Given the description of an element on the screen output the (x, y) to click on. 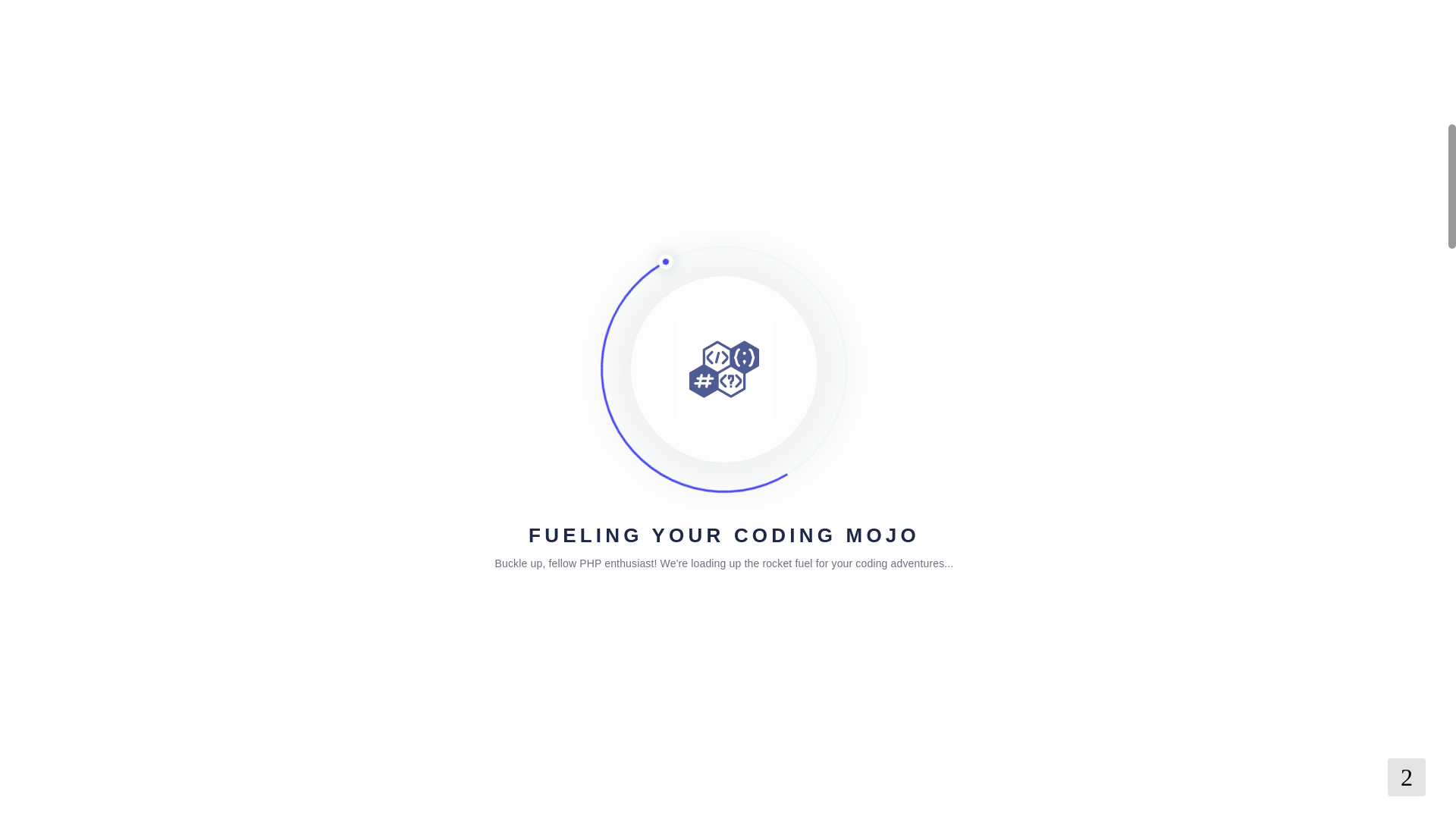
Age (704, 223)
Name (670, 223)
elyse69 (367, 668)
City (459, 244)
Format (628, 223)
Clear Explanation (890, 223)
Example (579, 223)
Help (384, 223)
PHP (353, 223)
